Given the description of an element on the screen output the (x, y) to click on. 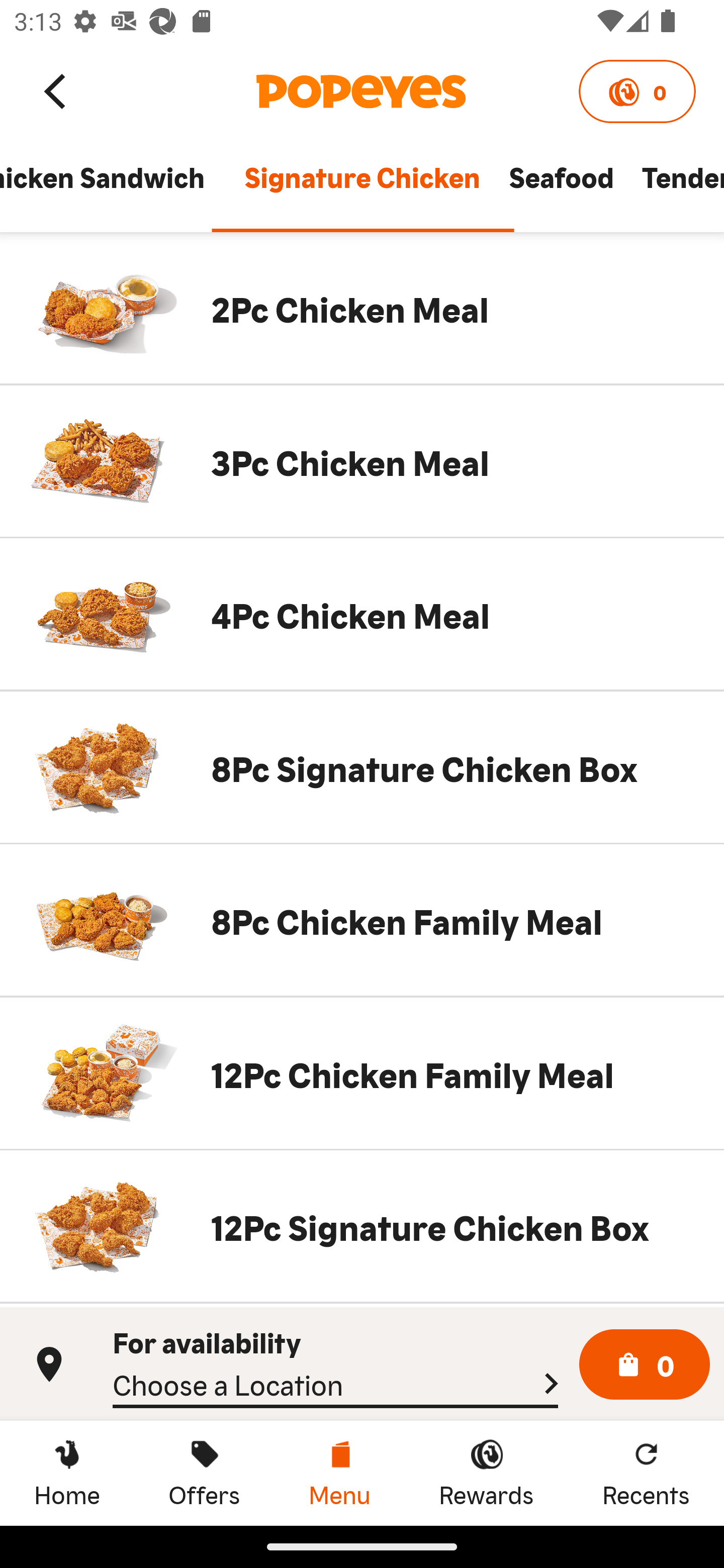
Back (56, 90)
0 Points 0 (636, 91)
Chicken Sandwich   (114, 186)
Signature Chicken (361, 186)
Seafood (560, 186)
0 Cart total  0 (644, 1364)
Home Home Home (66, 1472)
Offers Offers Offers (203, 1472)
Menu, current page Menu Menu, current page (339, 1472)
Rewards Rewards Rewards (486, 1472)
Recents Recents Recents (646, 1472)
